Given the description of an element on the screen output the (x, y) to click on. 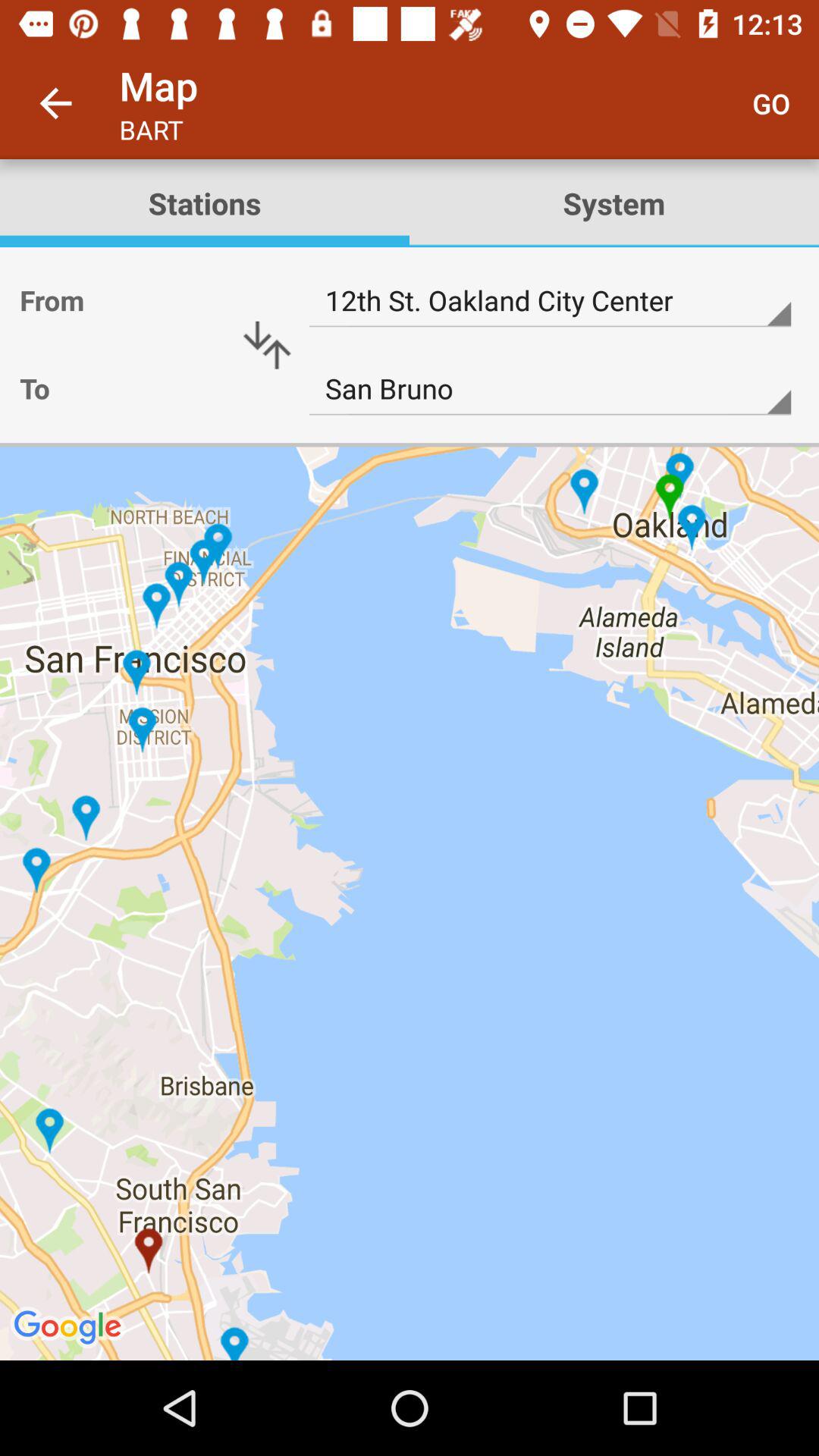
press item to the left of map app (55, 103)
